Given the description of an element on the screen output the (x, y) to click on. 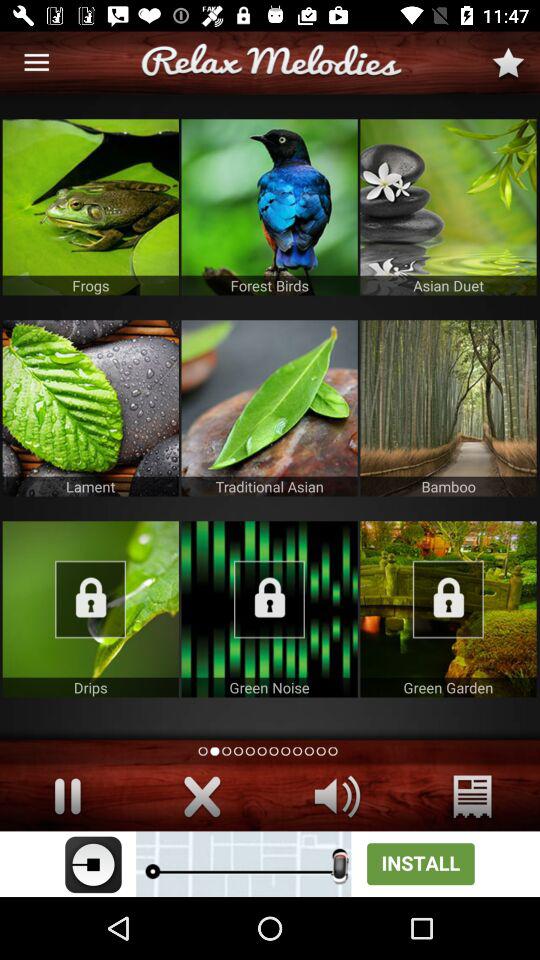
more picture (269, 609)
